Given the description of an element on the screen output the (x, y) to click on. 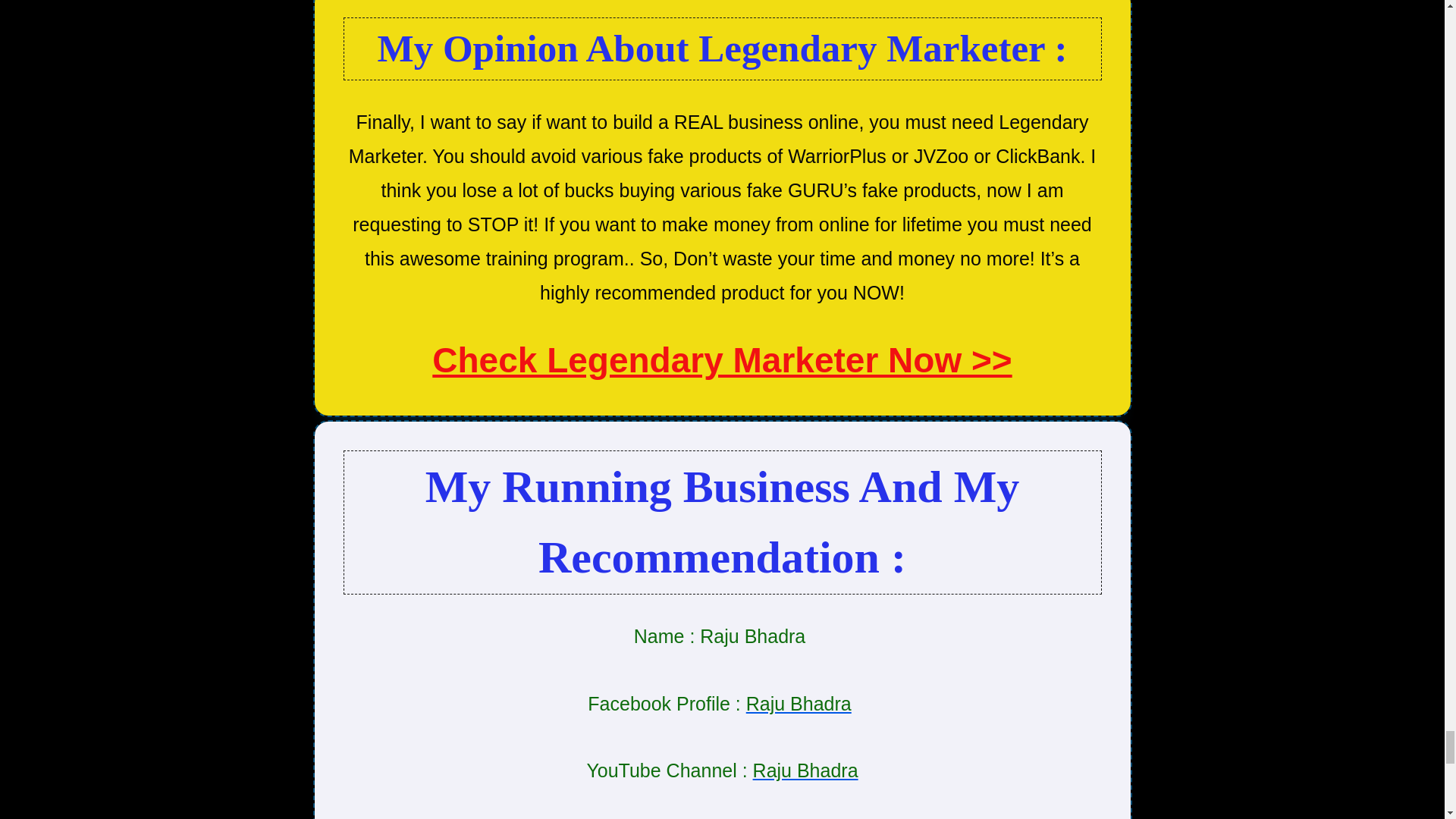
Raju Bhadra (798, 703)
Raju Bhadra (805, 770)
